Given the description of an element on the screen output the (x, y) to click on. 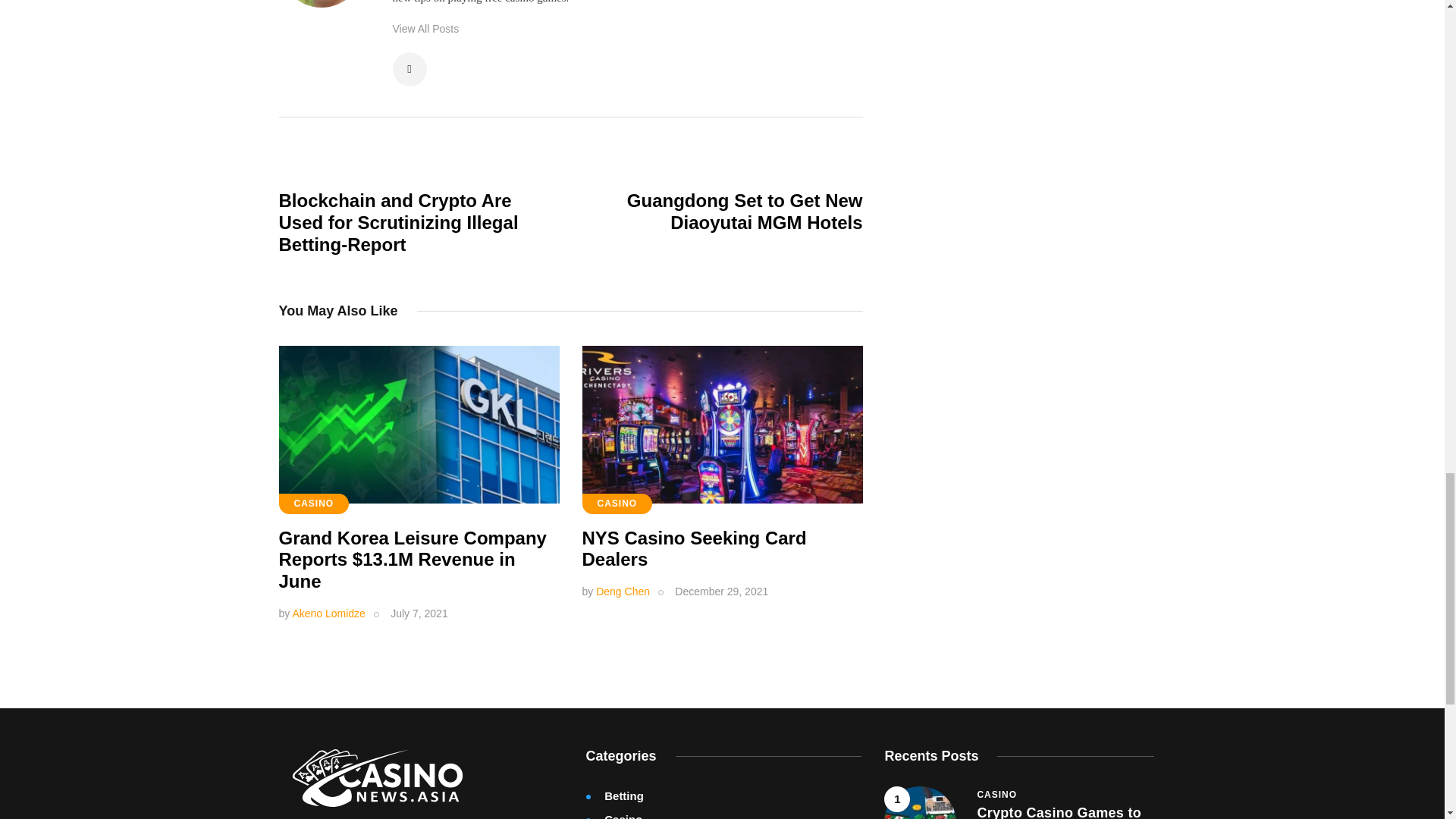
Casino News.Asia -Footer Logo (376, 777)
View all posts in Casino (996, 794)
